Given the description of an element on the screen output the (x, y) to click on. 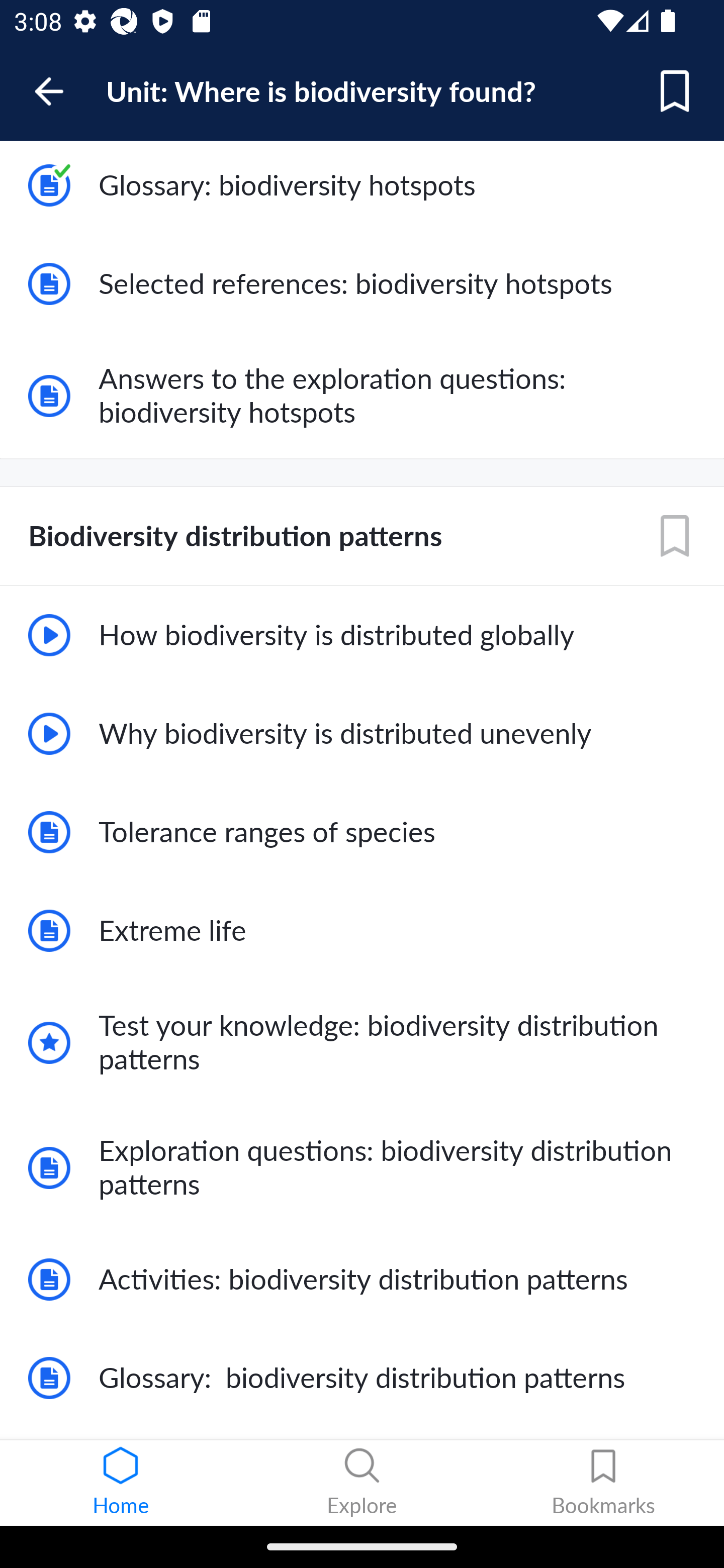
Activities: biodiversity hotspots (362, 89)
Back (58, 91)
Add Bookmark (674, 91)
Glossary: biodiversity hotspots (362, 185)
Selected references: biodiversity hotspots (362, 283)
Add Bookmark (674, 535)
How biodiversity is distributed globally (362, 635)
Why biodiversity is distributed unevenly (362, 733)
Tolerance ranges of species (362, 831)
Extreme life (362, 930)
Activities: biodiversity distribution patterns (362, 1279)
Glossary:  biodiversity distribution patterns (362, 1377)
Home (120, 1482)
Explore (361, 1482)
Bookmarks (603, 1482)
